Given the description of an element on the screen output the (x, y) to click on. 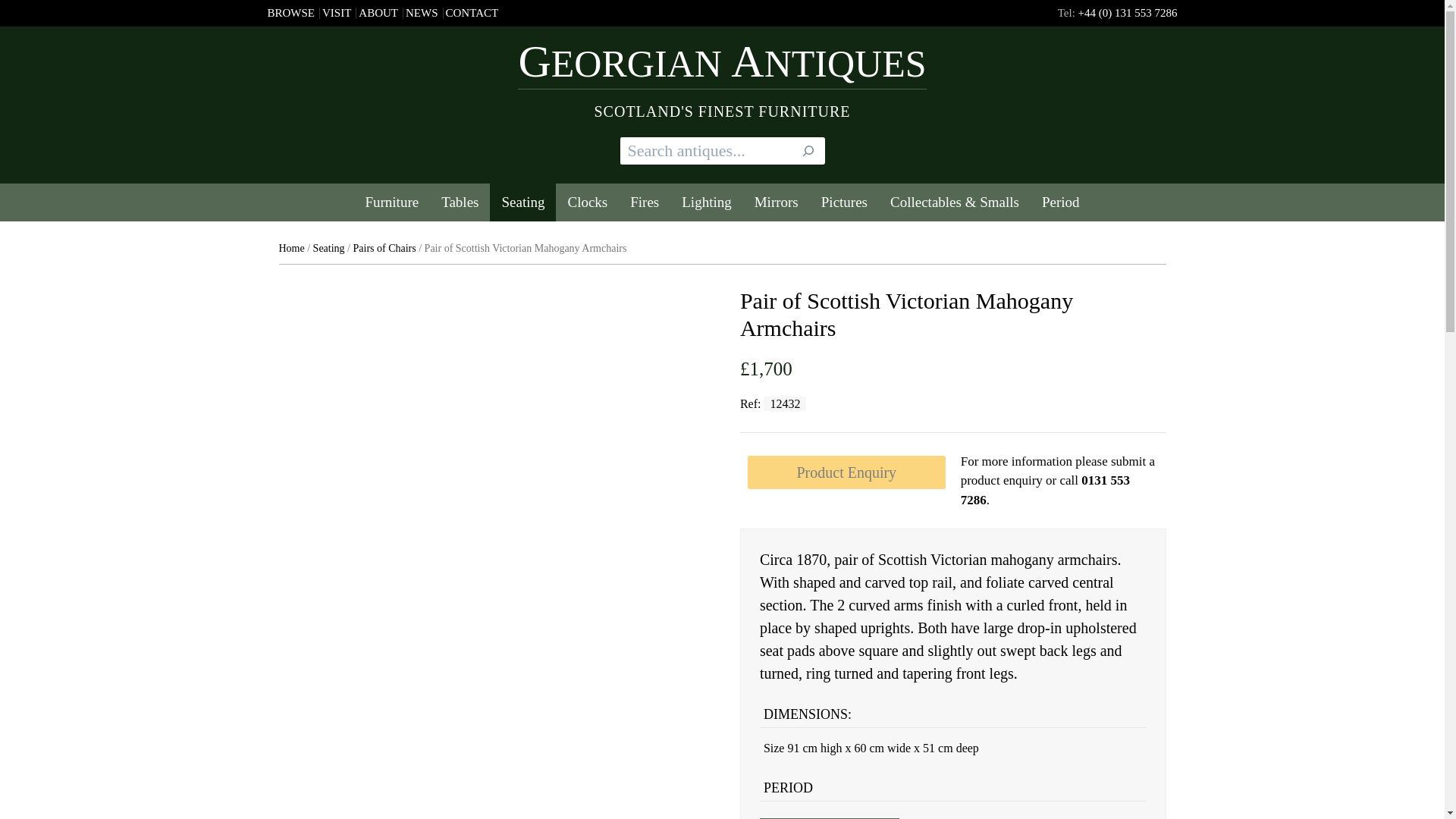
Tables (459, 202)
CONTACT (472, 12)
P1284233.jpg (490, 774)
ABOUT (377, 12)
NEWS (422, 12)
BROWSE (290, 12)
Seating (522, 202)
P1284243.jpg (576, 774)
Furniture (391, 202)
VISIT (335, 12)
